Given the description of an element on the screen output the (x, y) to click on. 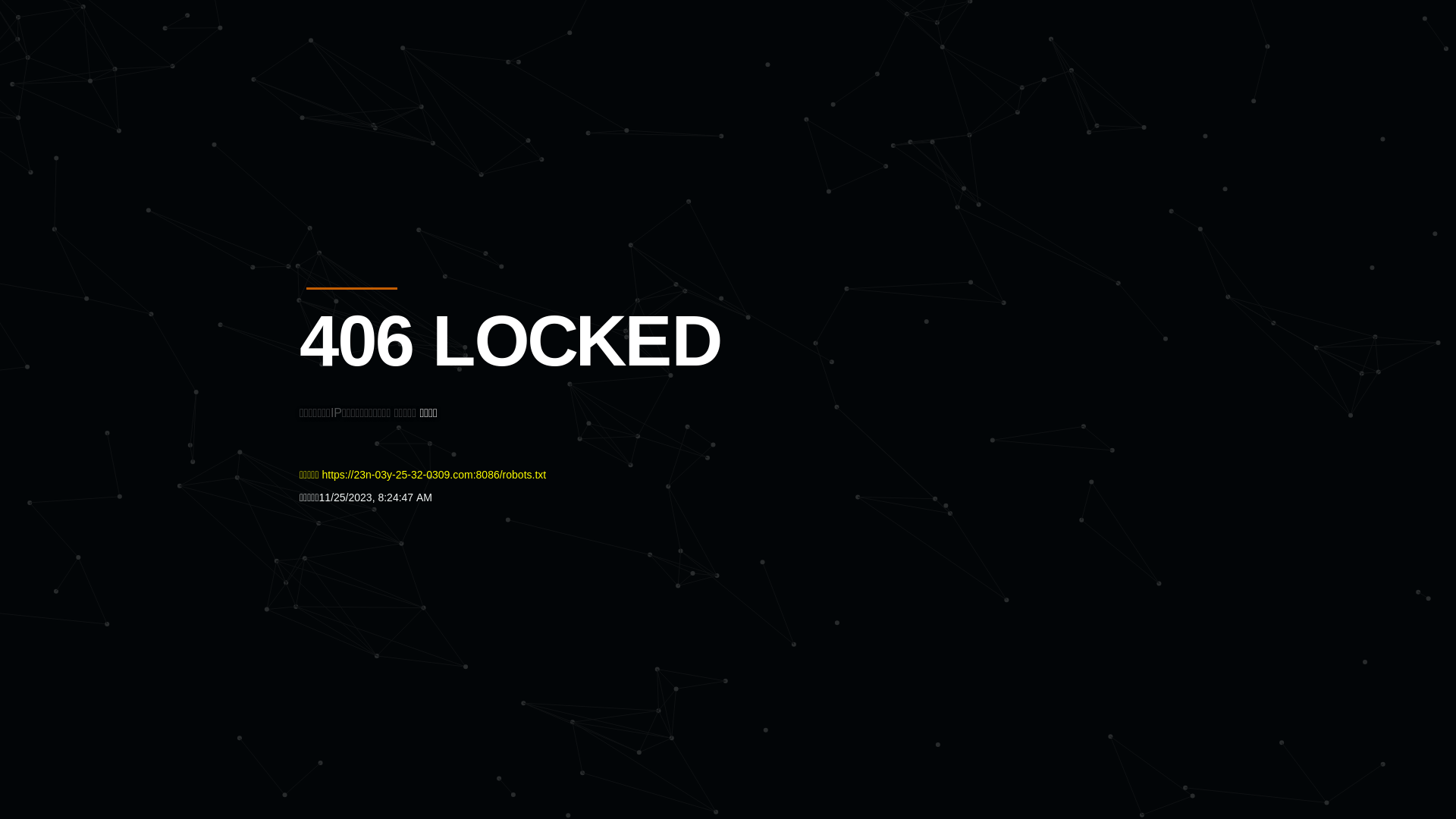
Quatro Element type: text (410, 86)
